Given the description of an element on the screen output the (x, y) to click on. 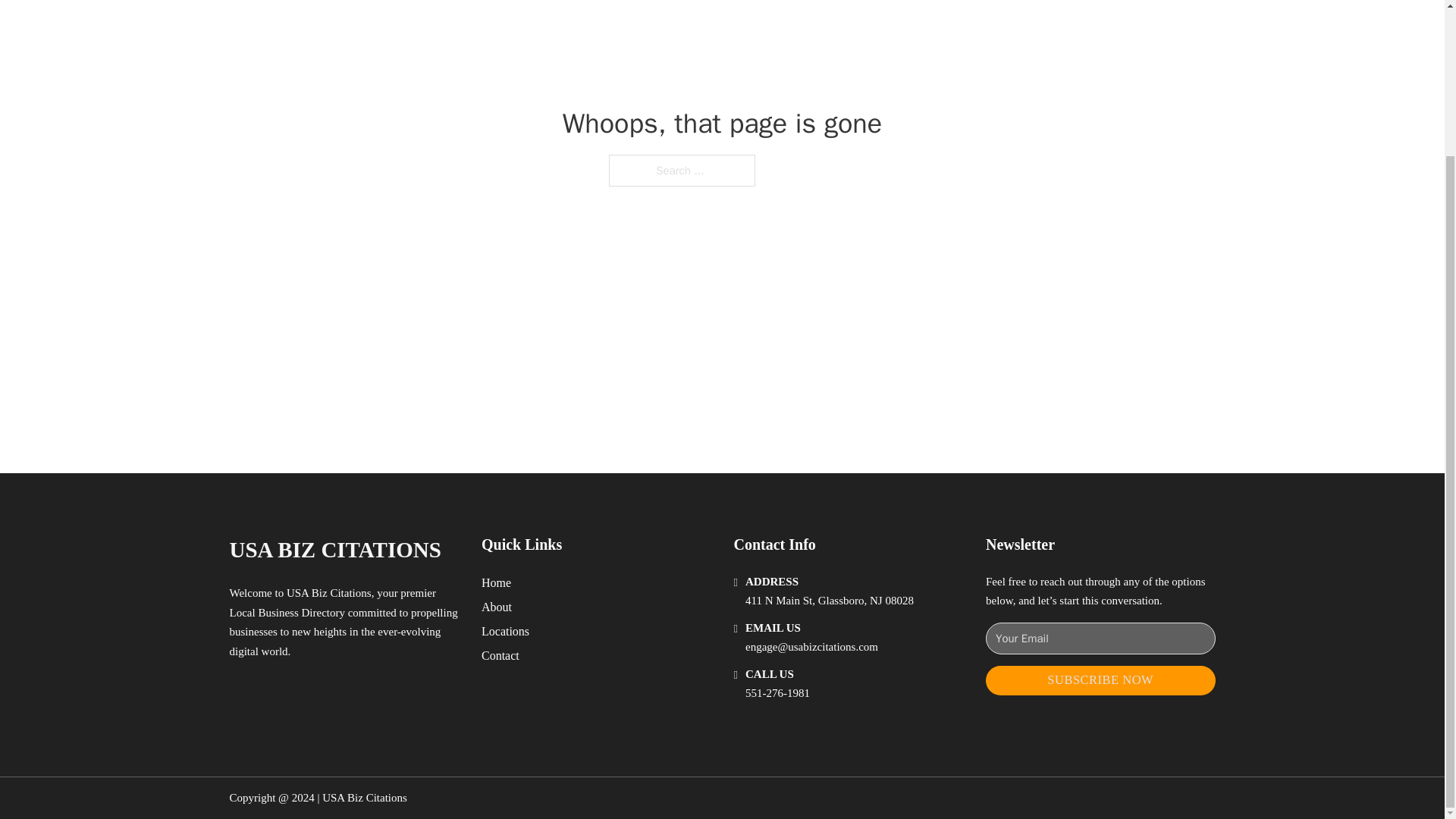
SUBSCRIBE NOW (1100, 680)
USA BIZ CITATIONS (334, 549)
Locations (505, 630)
Contact (500, 655)
Home (496, 582)
About (496, 607)
551-276-1981 (777, 693)
